Given the description of an element on the screen output the (x, y) to click on. 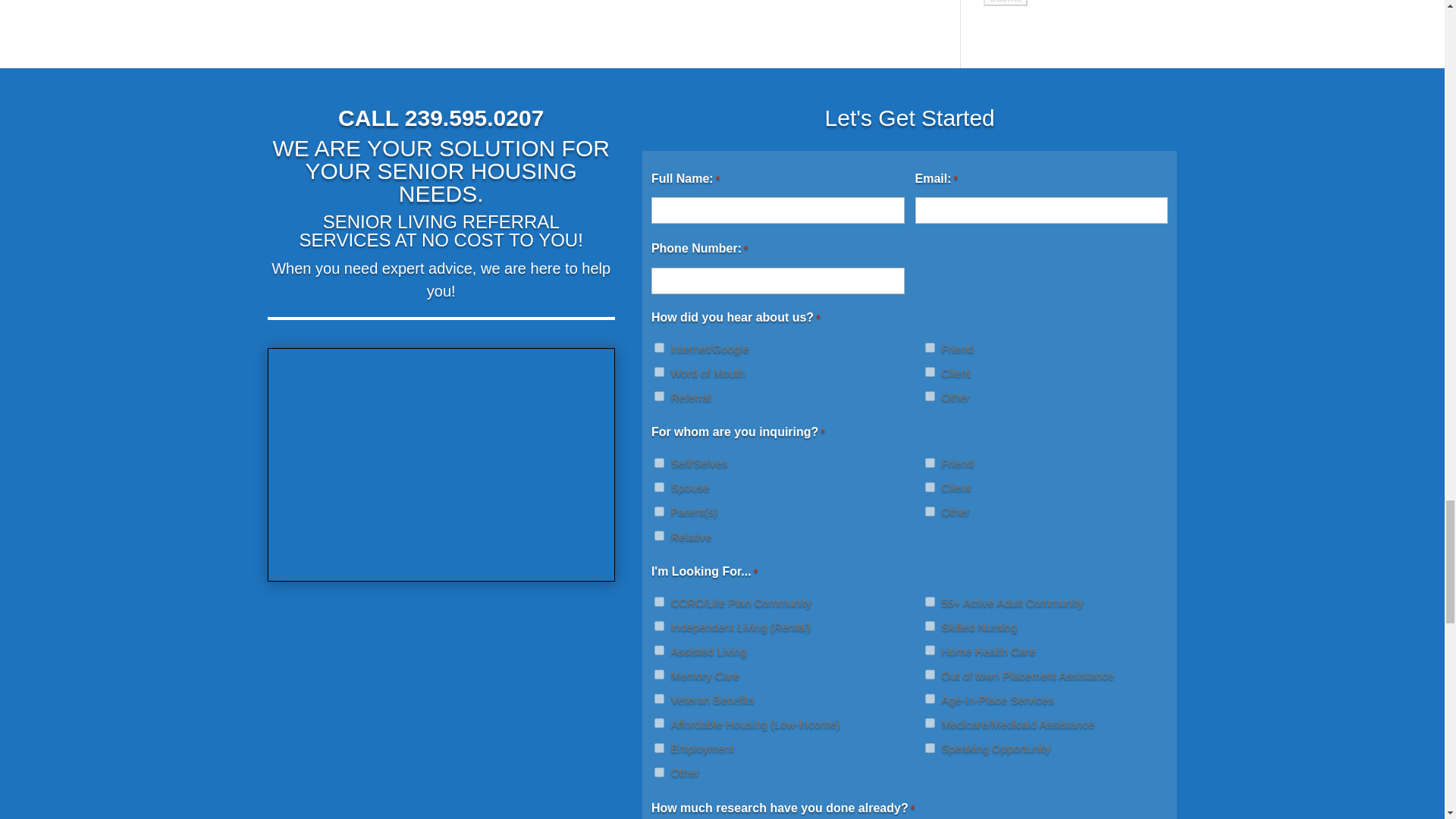
CoupleOnBeach (440, 464)
